Given the description of an element on the screen output the (x, y) to click on. 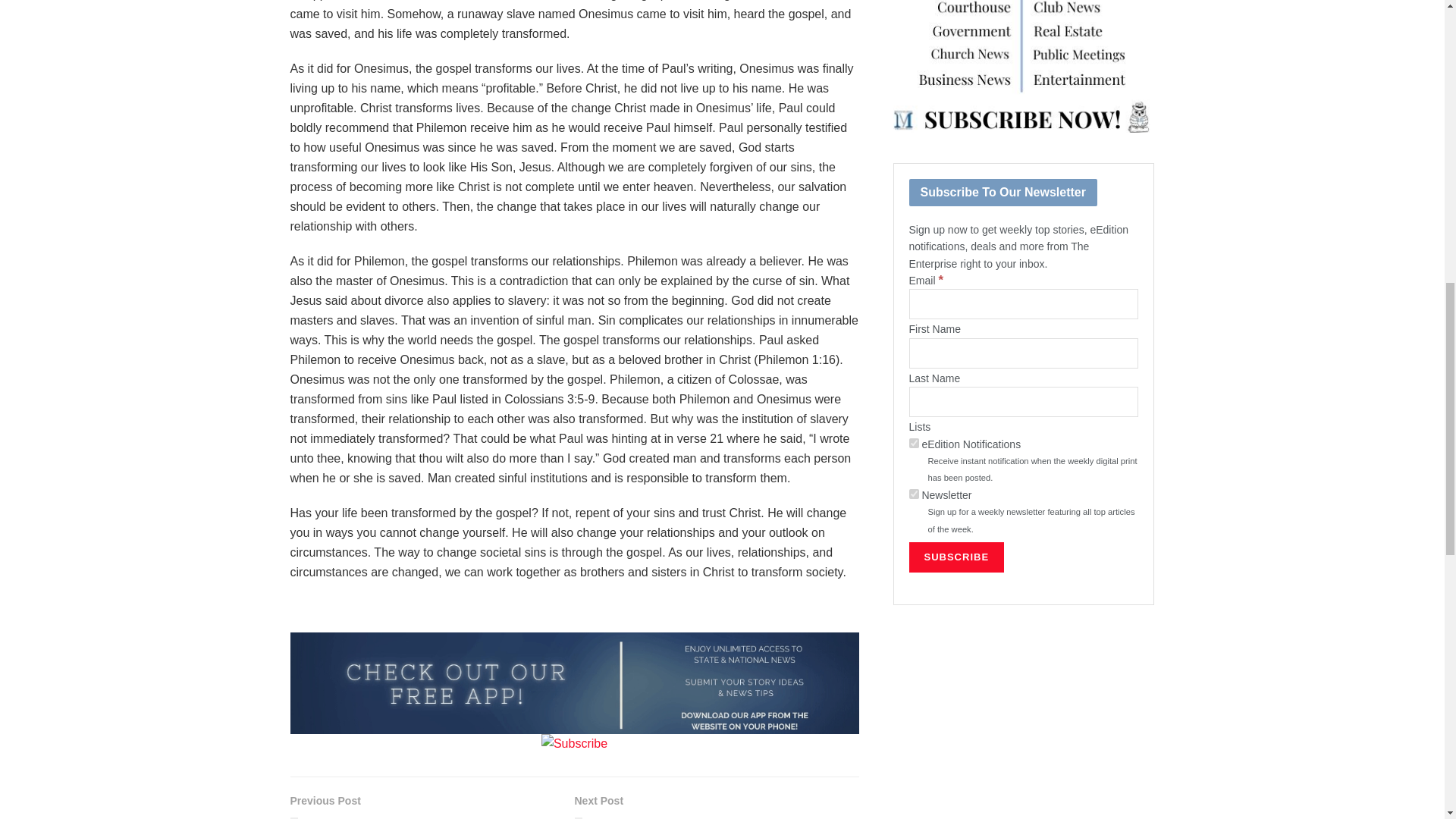
2 (913, 442)
3 (913, 493)
Subscribe (956, 557)
